Given the description of an element on the screen output the (x, y) to click on. 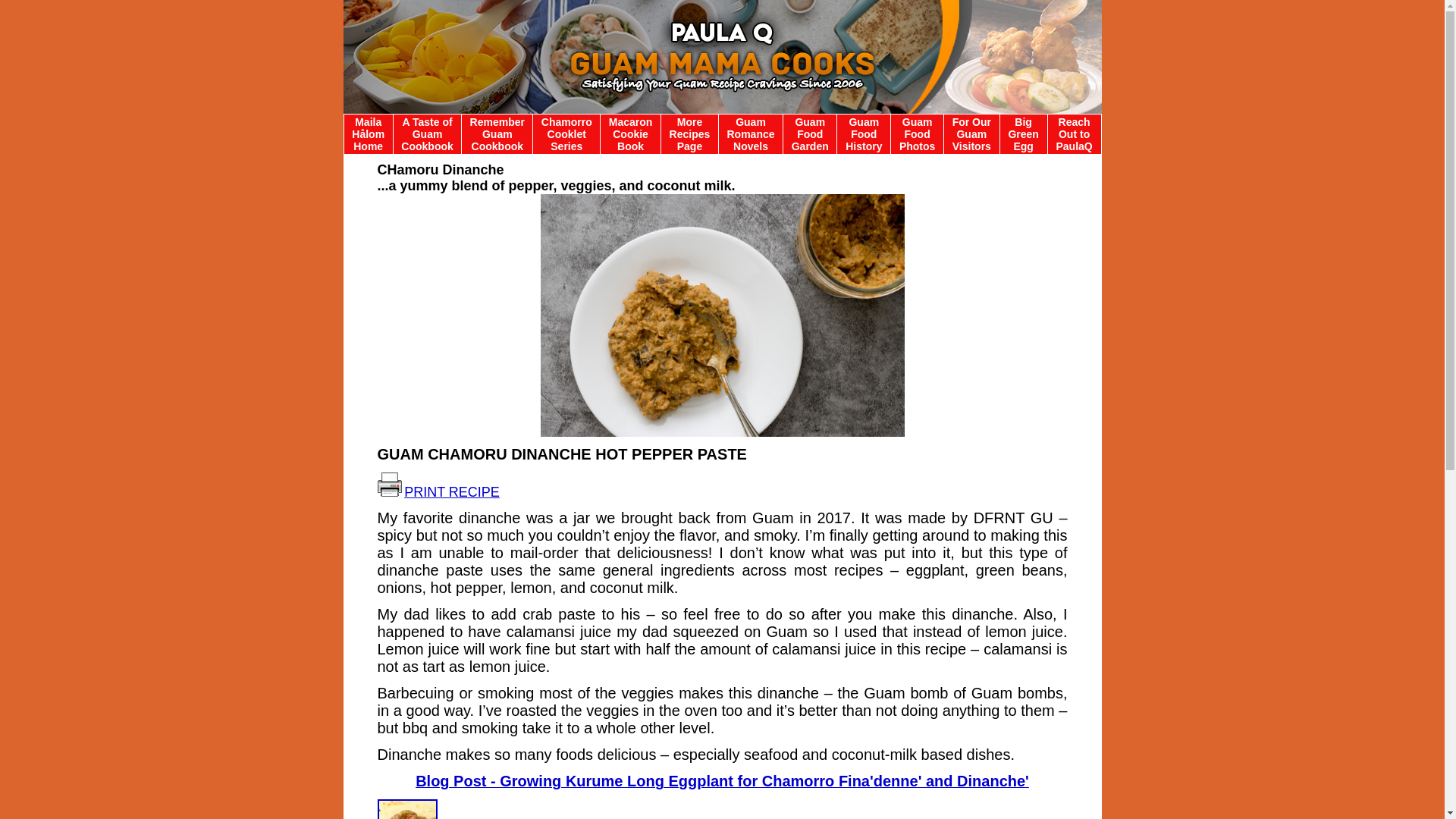
Macaron Cookie Book (630, 134)
Chamorro Cooklet Series (566, 134)
A Taste of Guam Cookbook (426, 134)
Remember Guam Cookbook (497, 134)
Guam Food History (863, 134)
Guam Food Garden (810, 134)
PRINT RECIPE (451, 492)
Guam Food Photos (916, 134)
Reach Out to PaulaQ (1073, 134)
For Our Guam Visitors (971, 134)
Guam Romance Novels (750, 134)
More Recipes Page (689, 134)
